Given the description of an element on the screen output the (x, y) to click on. 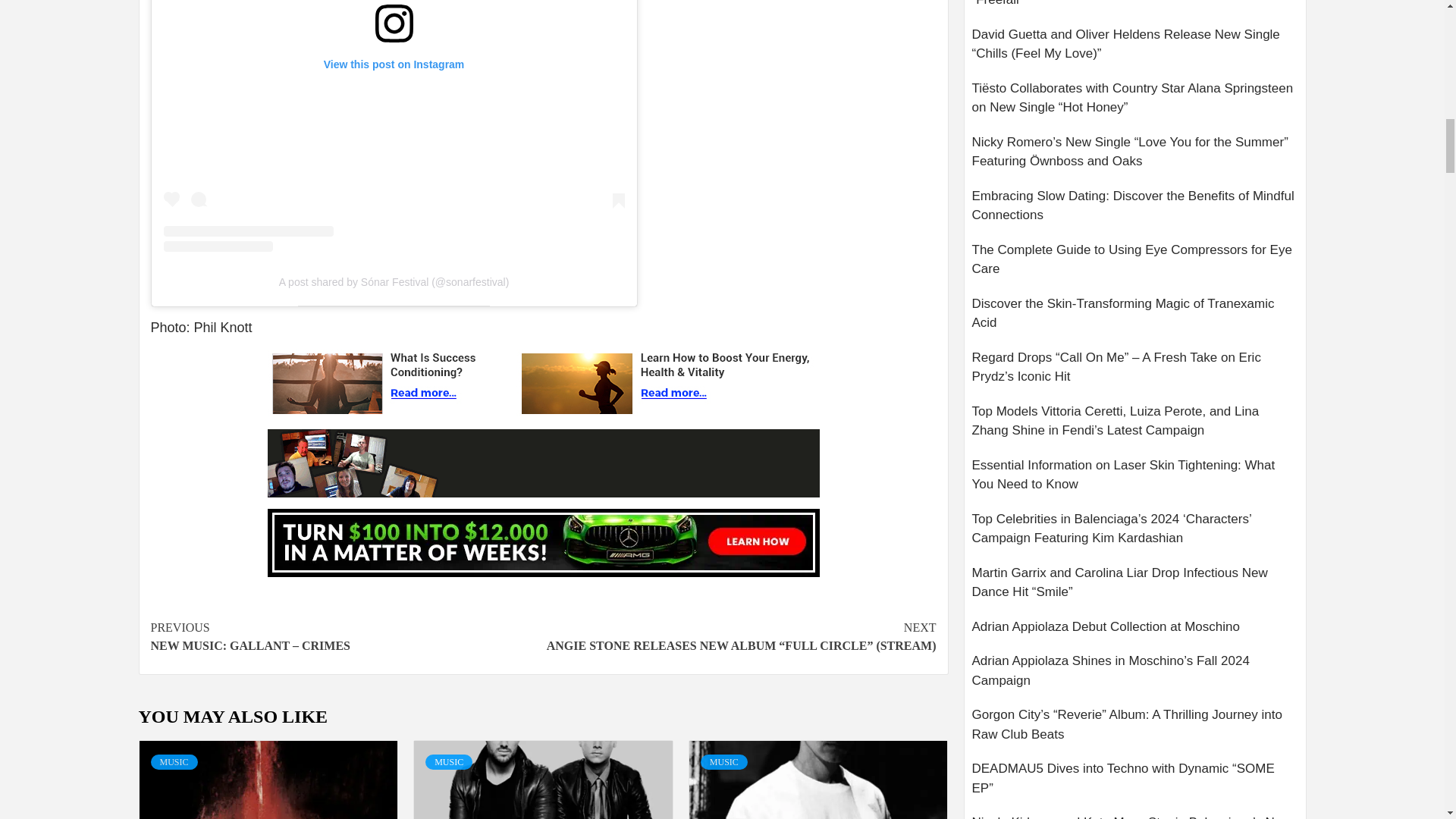
MUSIC (172, 761)
View this post on Instagram (393, 125)
